Given the description of an element on the screen output the (x, y) to click on. 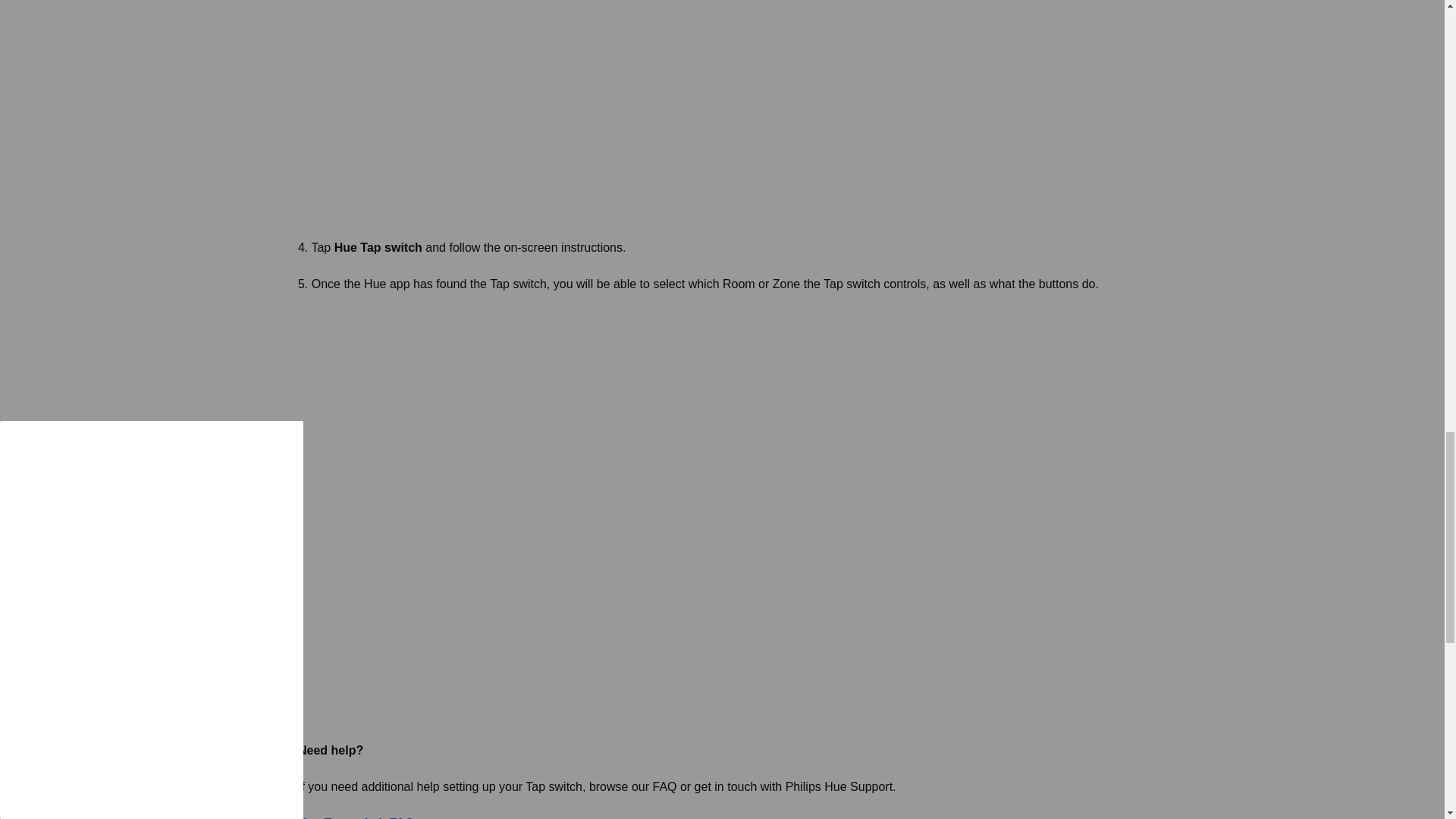
Add accessory (504, 110)
Hue tap switch faq (361, 817)
